Given the description of an element on the screen output the (x, y) to click on. 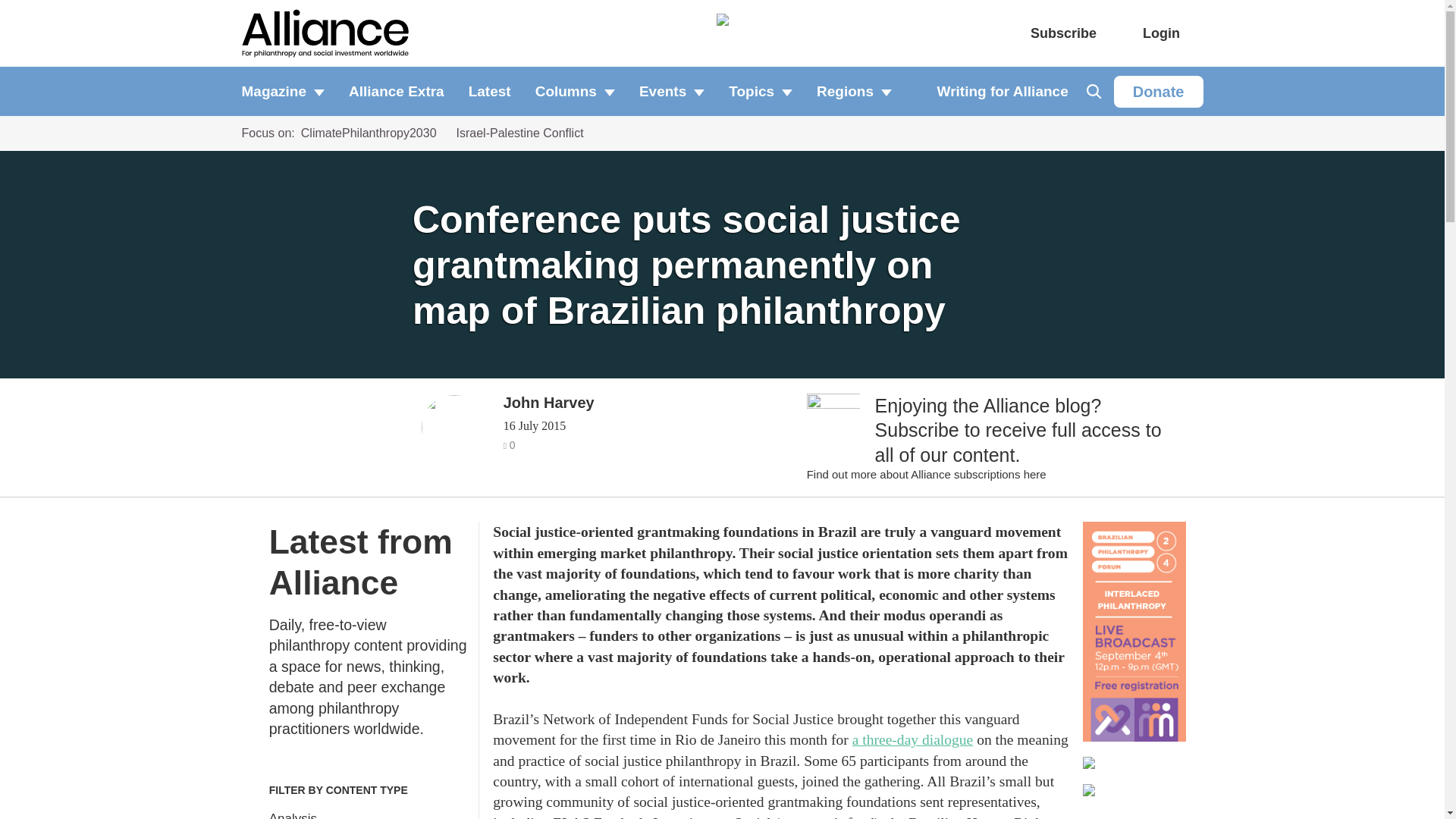
Subscribe (1063, 33)
Login (1160, 33)
Events (671, 91)
Magazine (288, 91)
Topics (760, 91)
Alliance Extra (396, 91)
Latest (489, 91)
Donate (1158, 91)
Columns (574, 91)
